Given the description of an element on the screen output the (x, y) to click on. 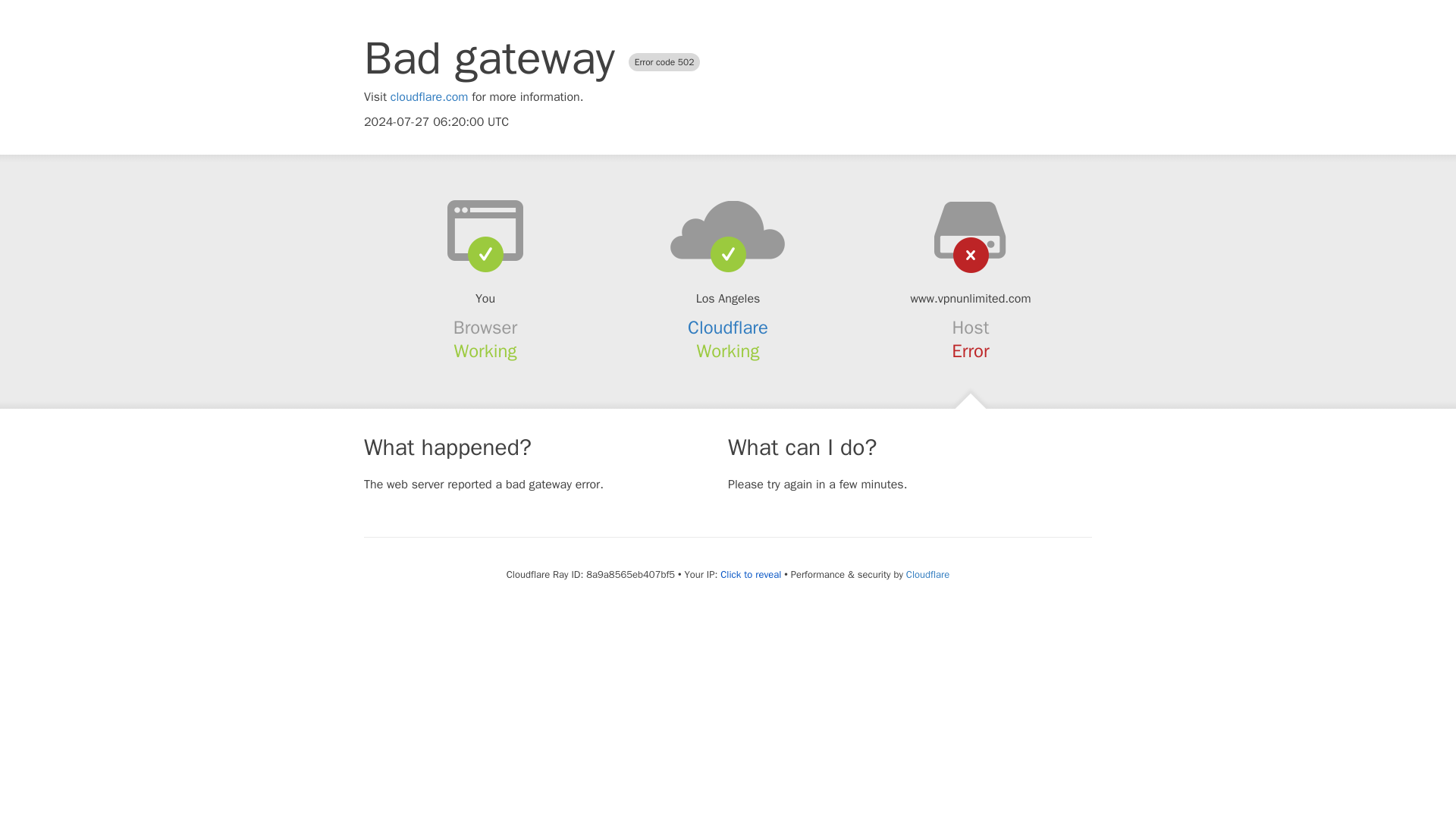
Cloudflare (727, 327)
Click to reveal (750, 574)
cloudflare.com (429, 96)
Cloudflare (927, 574)
